Given the description of an element on the screen output the (x, y) to click on. 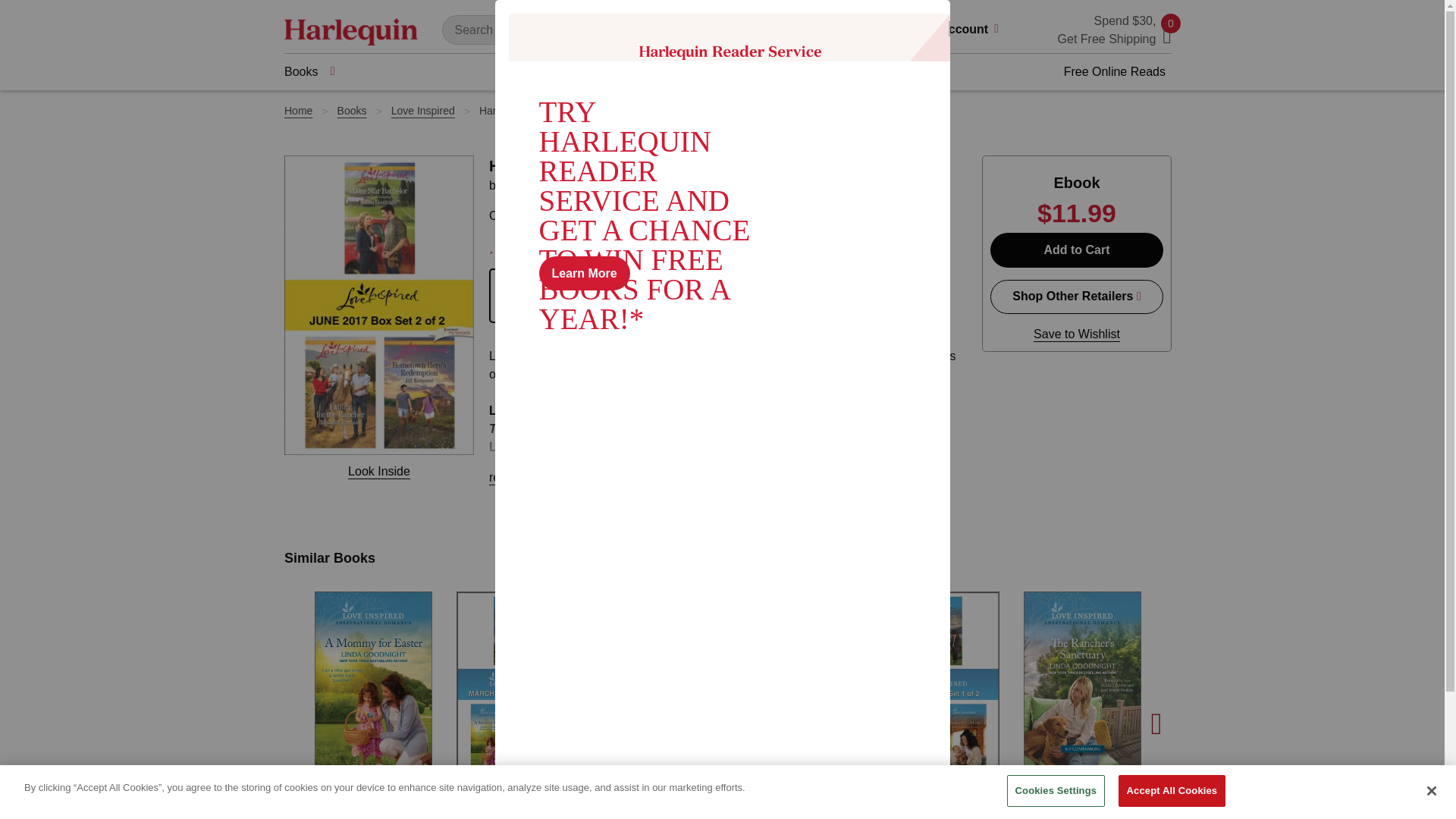
Books (308, 72)
Search for other content by Roxanne Rustand (649, 185)
See all reviews on Goodreads (695, 246)
See ratings and reviews (520, 245)
Search for other content by Jill Kemerer (736, 185)
Search for other content by Linda Goodnight (549, 185)
Harlequin home (350, 30)
Account (974, 30)
